Given the description of an element on the screen output the (x, y) to click on. 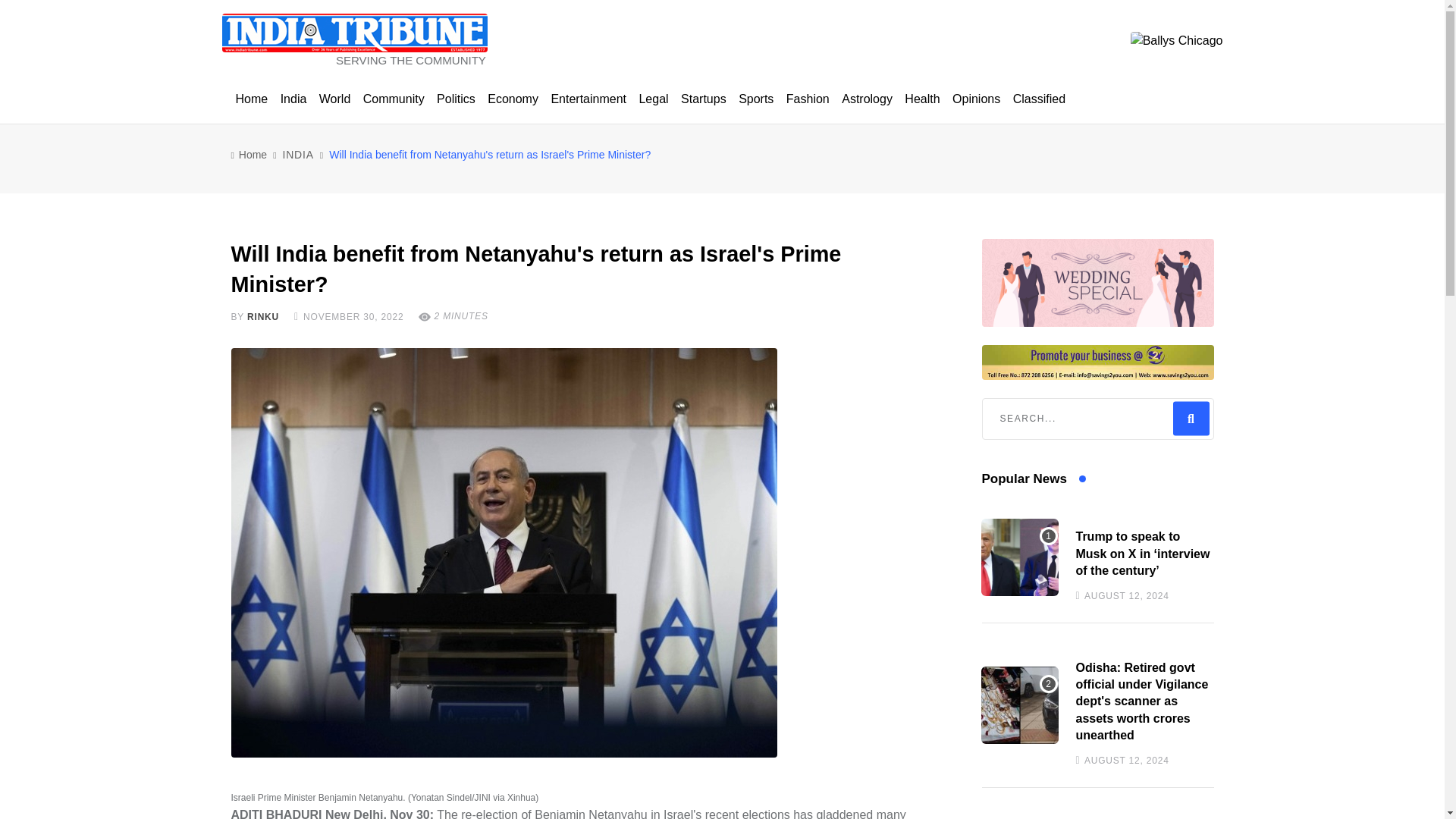
Fashion (807, 98)
Sports (755, 98)
Startups (703, 98)
Entertainment (588, 98)
Politics (456, 98)
Classified (1039, 98)
Economy (513, 98)
Astrology (866, 98)
Health (921, 98)
Community (393, 98)
